Given the description of an element on the screen output the (x, y) to click on. 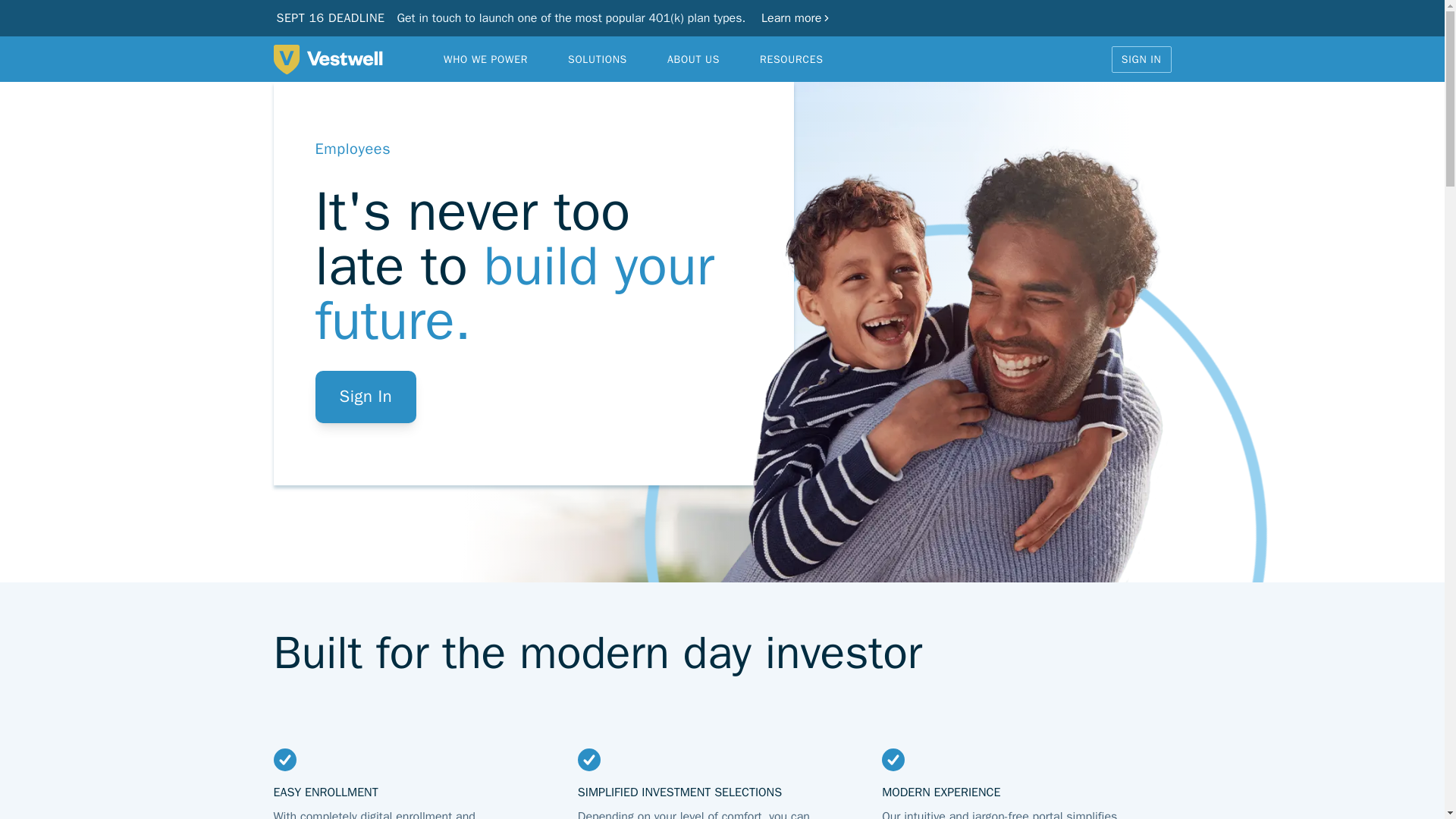
ABOUT US (692, 58)
RESOURCES (791, 58)
WHO WE POWER (485, 58)
SOLUTIONS (597, 58)
SIGN IN (1142, 58)
Sign In (365, 397)
